Given the description of an element on the screen output the (x, y) to click on. 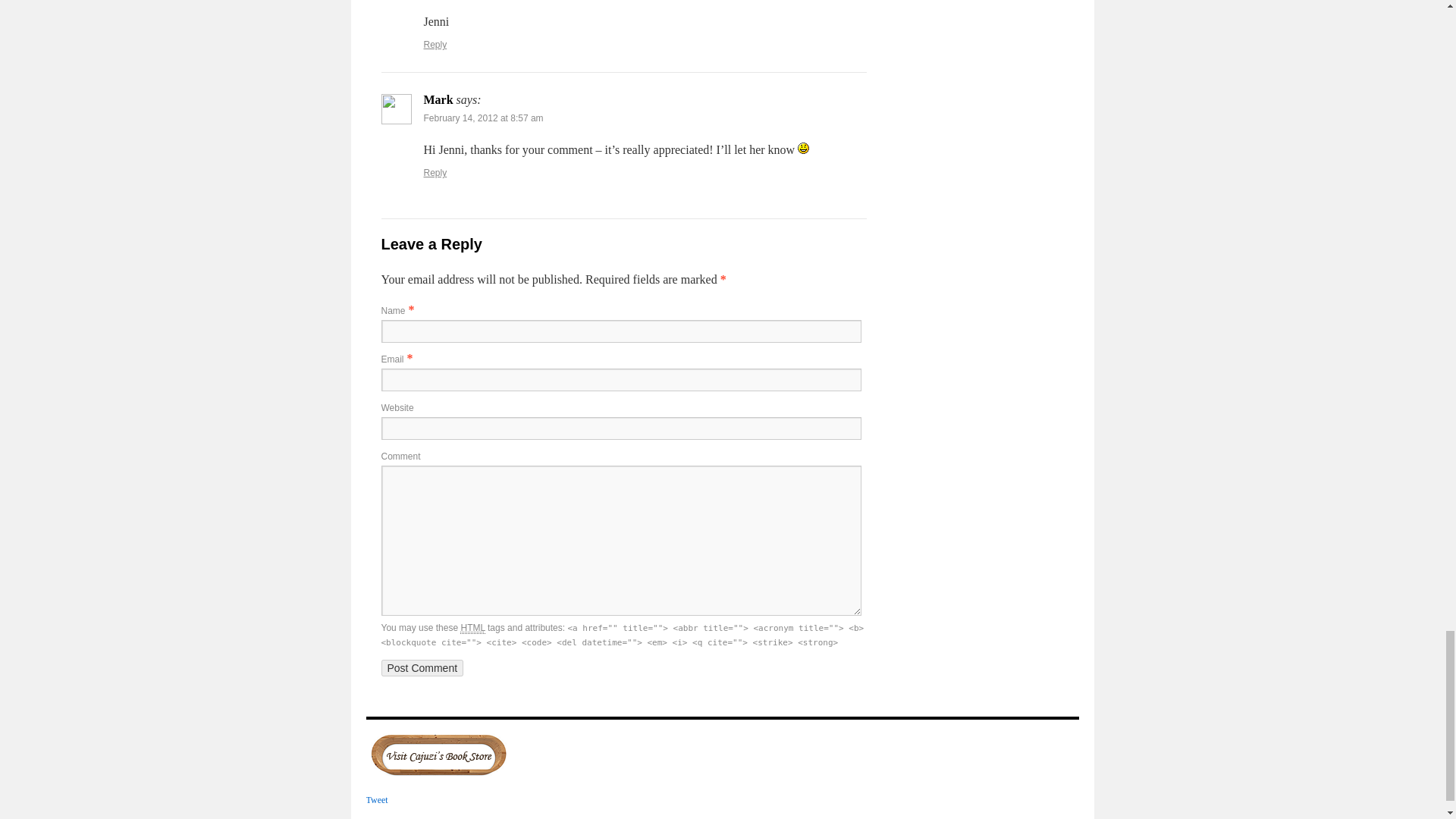
Post Comment (421, 668)
Reply (434, 172)
February 14, 2012 at 8:57 am (483, 118)
Post Comment (421, 668)
Reply (434, 44)
